Given the description of an element on the screen output the (x, y) to click on. 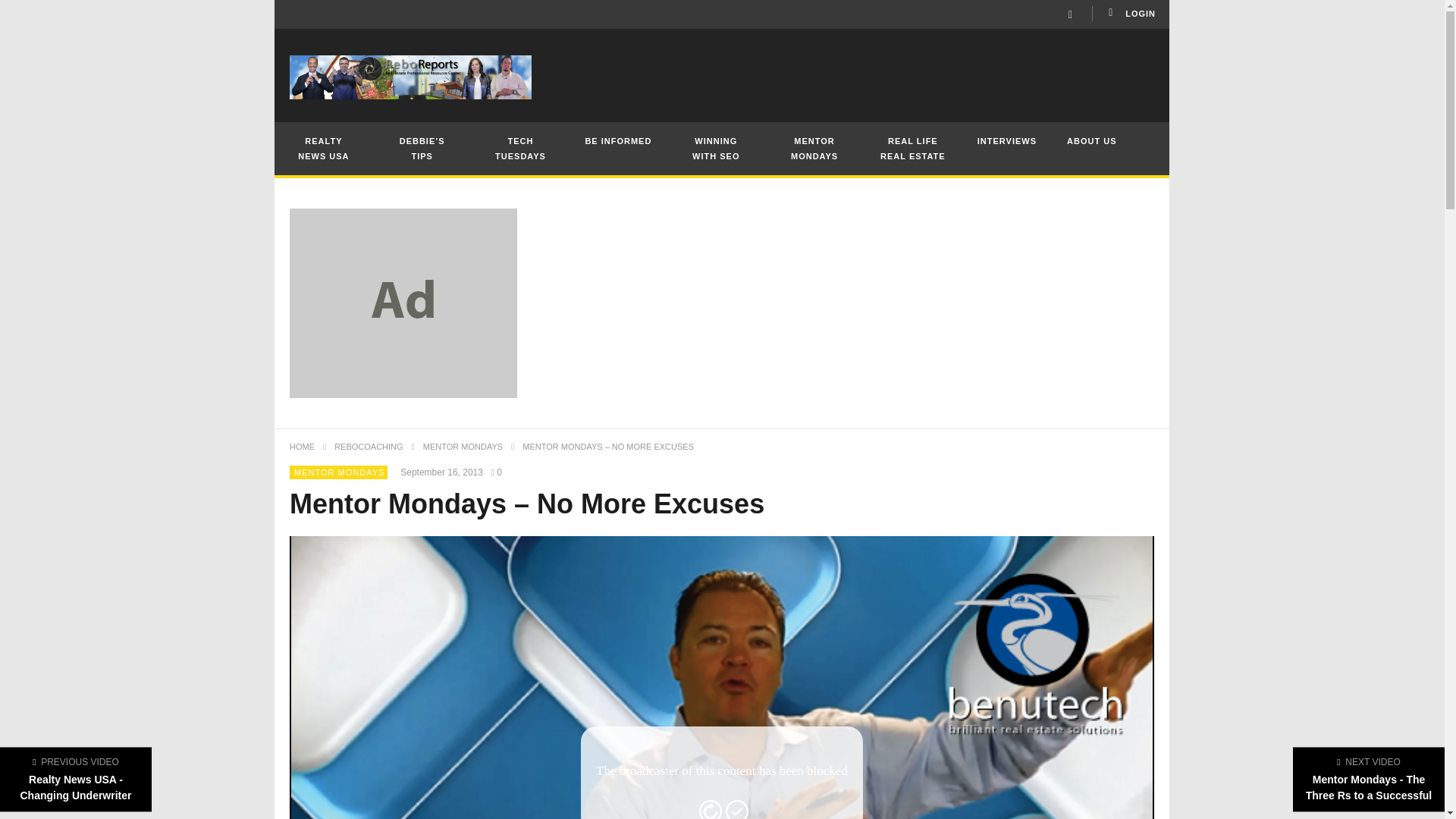
LOGIN (1130, 13)
MENTOR MONDAYS (339, 470)
MENTOR MONDAYS (462, 446)
HOME (301, 446)
WINNING WITH SEO (715, 148)
MENTOR MONDAYS (814, 148)
TECH TUESDAYS (520, 148)
INTERVIEWS (1006, 140)
BE INFORMED (617, 140)
ReboReports - Real Estate Resource Center (410, 77)
REAL LIFE REAL ESTATE (912, 148)
ABOUT US (1091, 140)
Twitter (1070, 14)
